Given the description of an element on the screen output the (x, y) to click on. 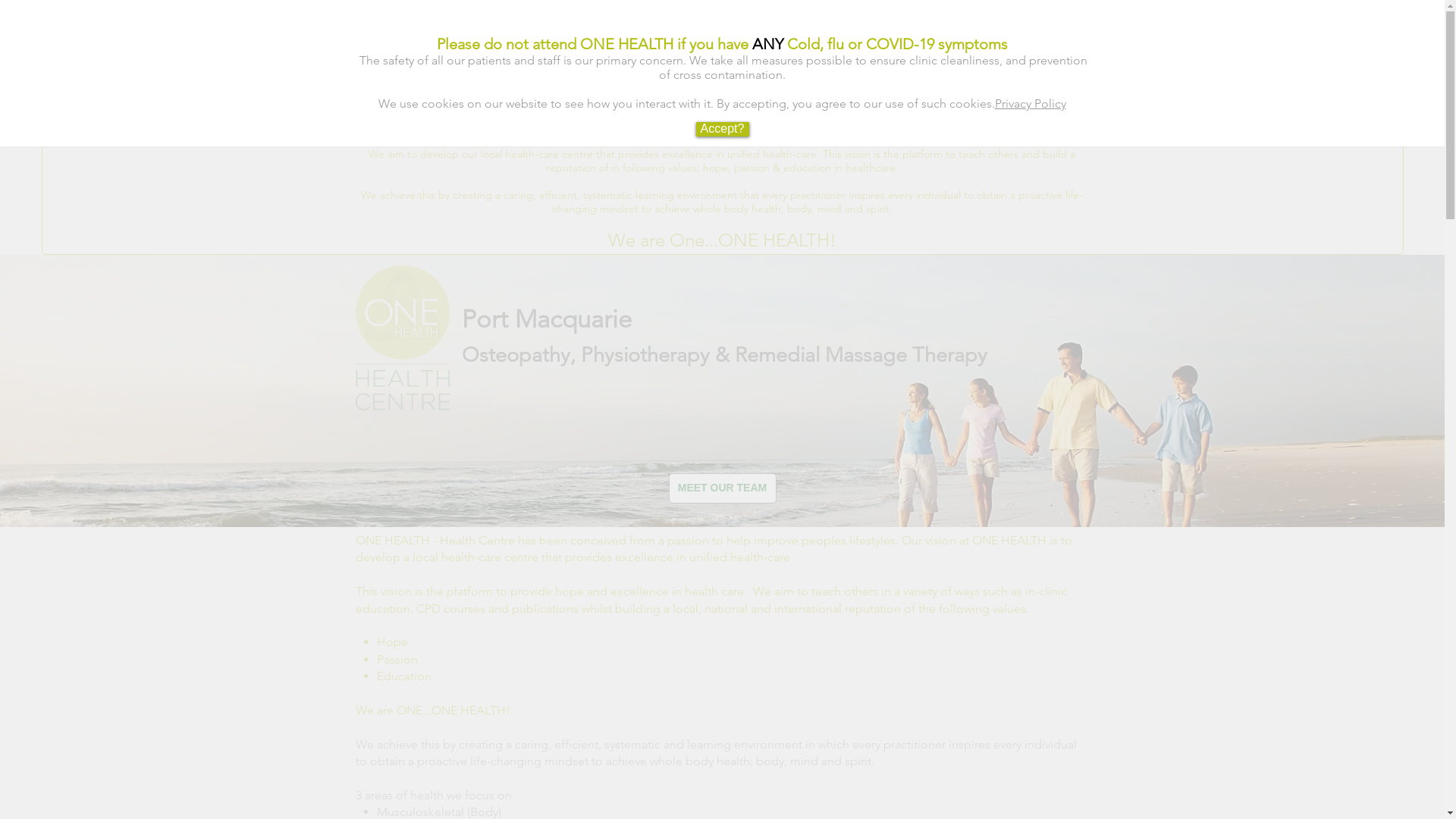
MEET OUR TEAM Element type: text (722, 488)
TEAM Element type: text (911, 59)
ABOUT Element type: text (709, 59)
EDUCATION Element type: text (845, 59)
HOME Element type: text (582, 59)
BOOK ONLINE Element type: text (413, 118)
CONTACT Element type: text (895, 118)
LOCATION Element type: text (781, 118)
02 6584 5343 Element type: text (1017, 118)
FAQs Element type: text (963, 59)
GIFT VOUCHERS Element type: text (1035, 59)
